Given the description of an element on the screen output the (x, y) to click on. 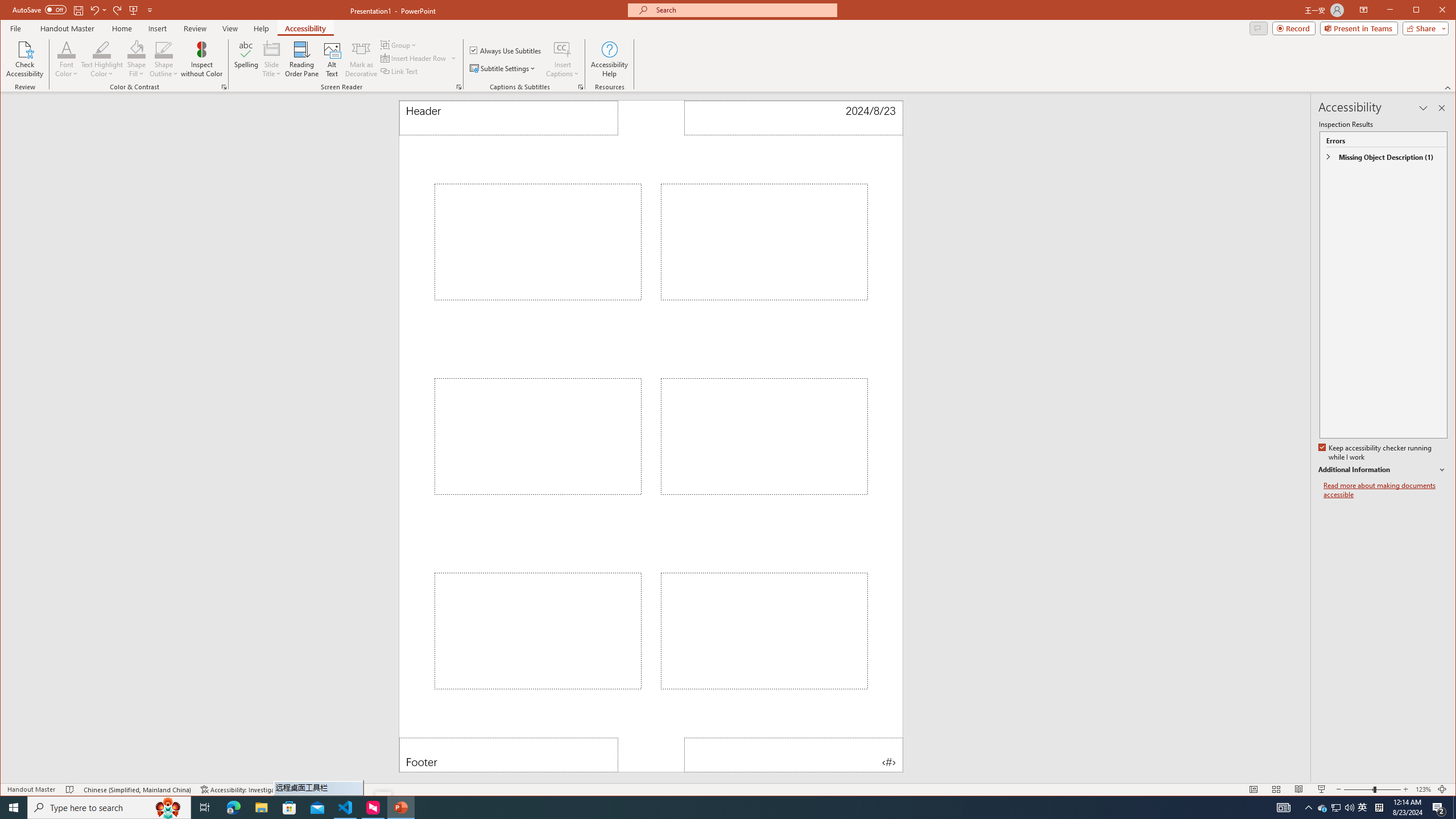
Accessibility Help (608, 59)
Font Color (66, 48)
Task View (204, 807)
Show desktop (1454, 807)
Notification Chevron (1308, 807)
Link Text (399, 70)
Slide Title (271, 48)
Insert Captions (562, 48)
User Promoted Notification Area (1336, 807)
